Given the description of an element on the screen output the (x, y) to click on. 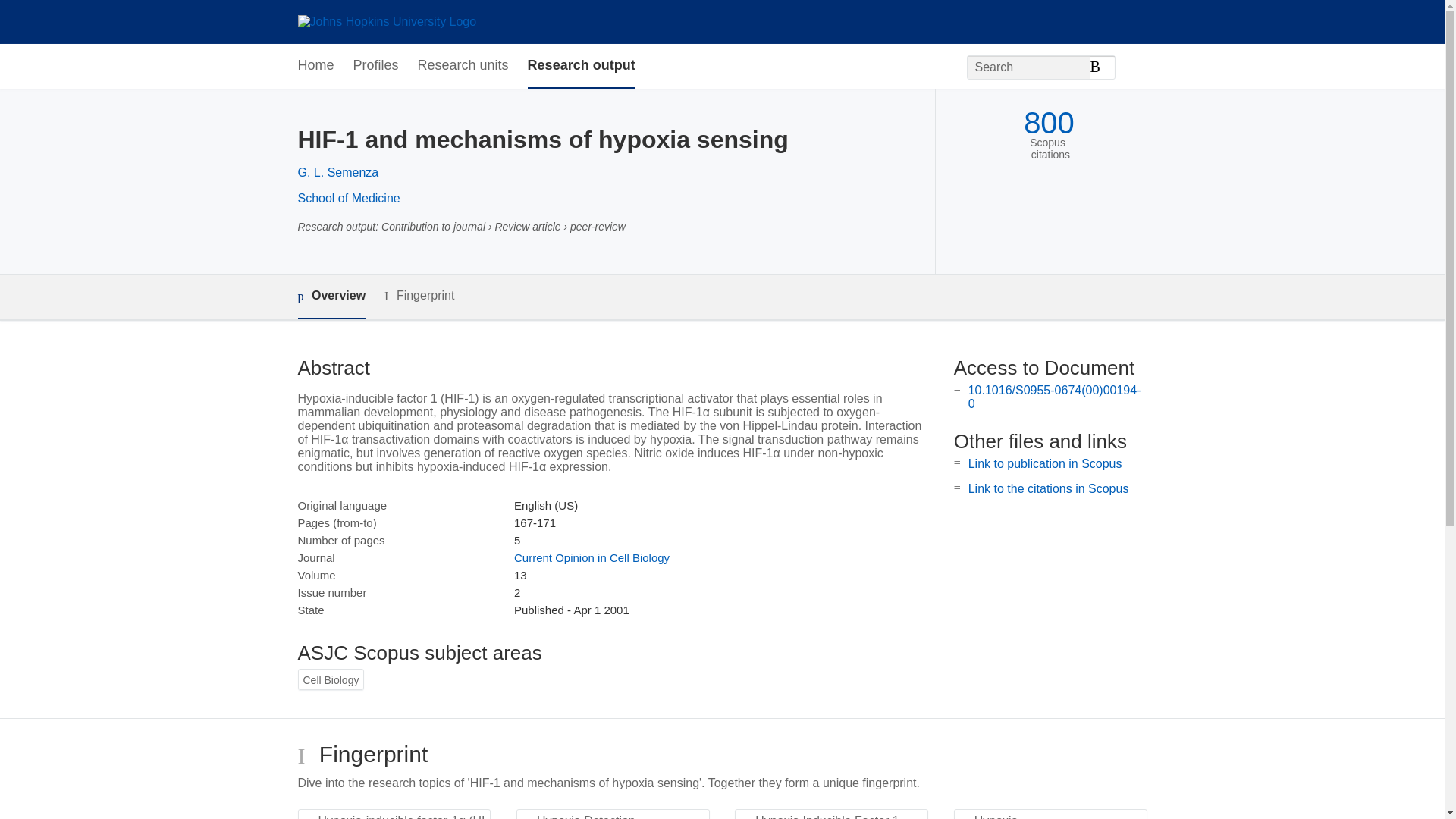
Profiles (375, 66)
Link to publication in Scopus (1045, 463)
G. L. Semenza (337, 172)
Research output (580, 66)
800 (1048, 122)
Fingerprint (419, 295)
School of Medicine (347, 197)
Johns Hopkins University Home (386, 21)
Overview (331, 296)
Research units (462, 66)
Link to the citations in Scopus (1048, 488)
Current Opinion in Cell Biology (591, 557)
